Given the description of an element on the screen output the (x, y) to click on. 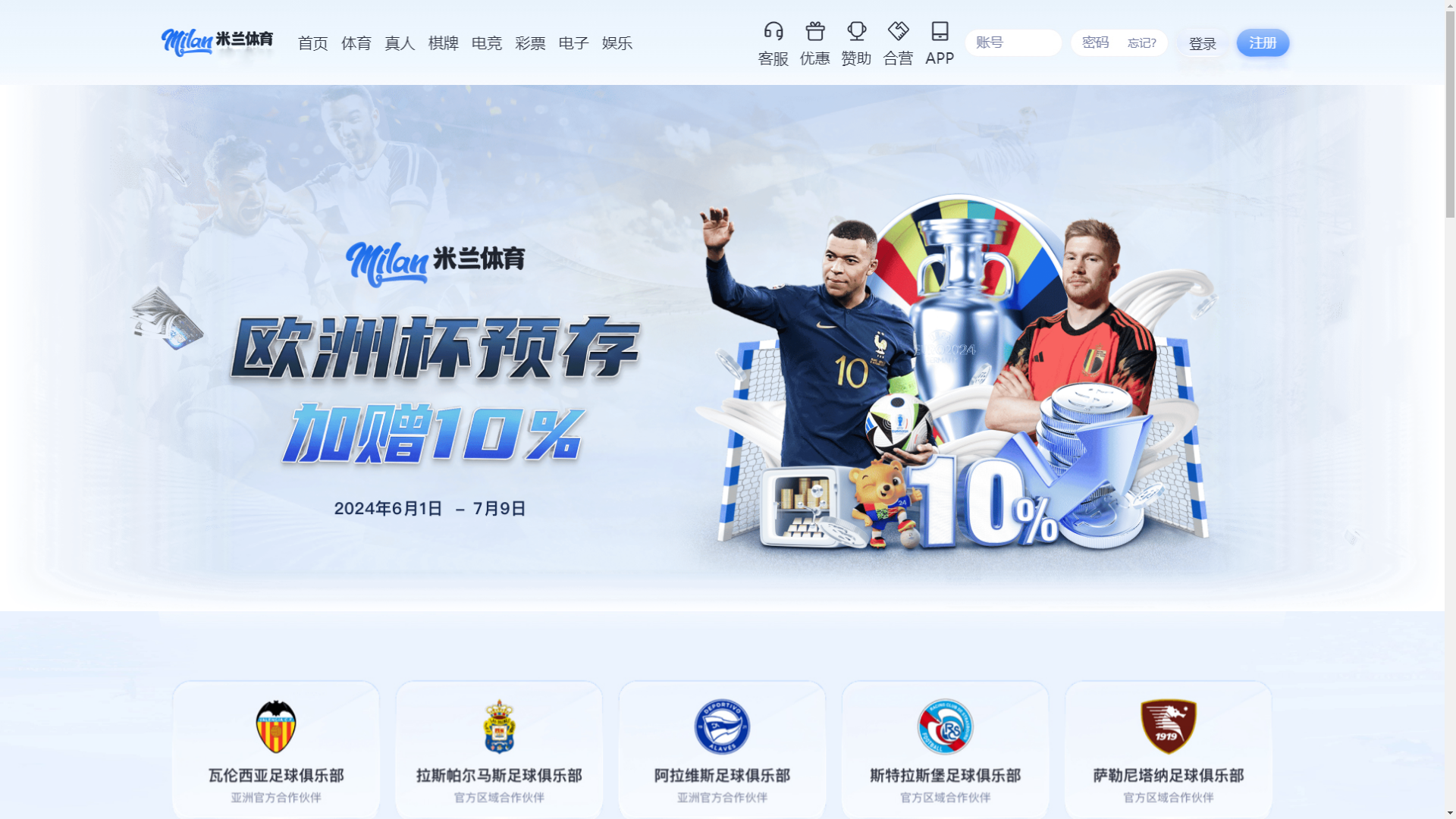
Schedule Demo (1020, 30)
Solutions (1214, 31)
